Given the description of an element on the screen output the (x, y) to click on. 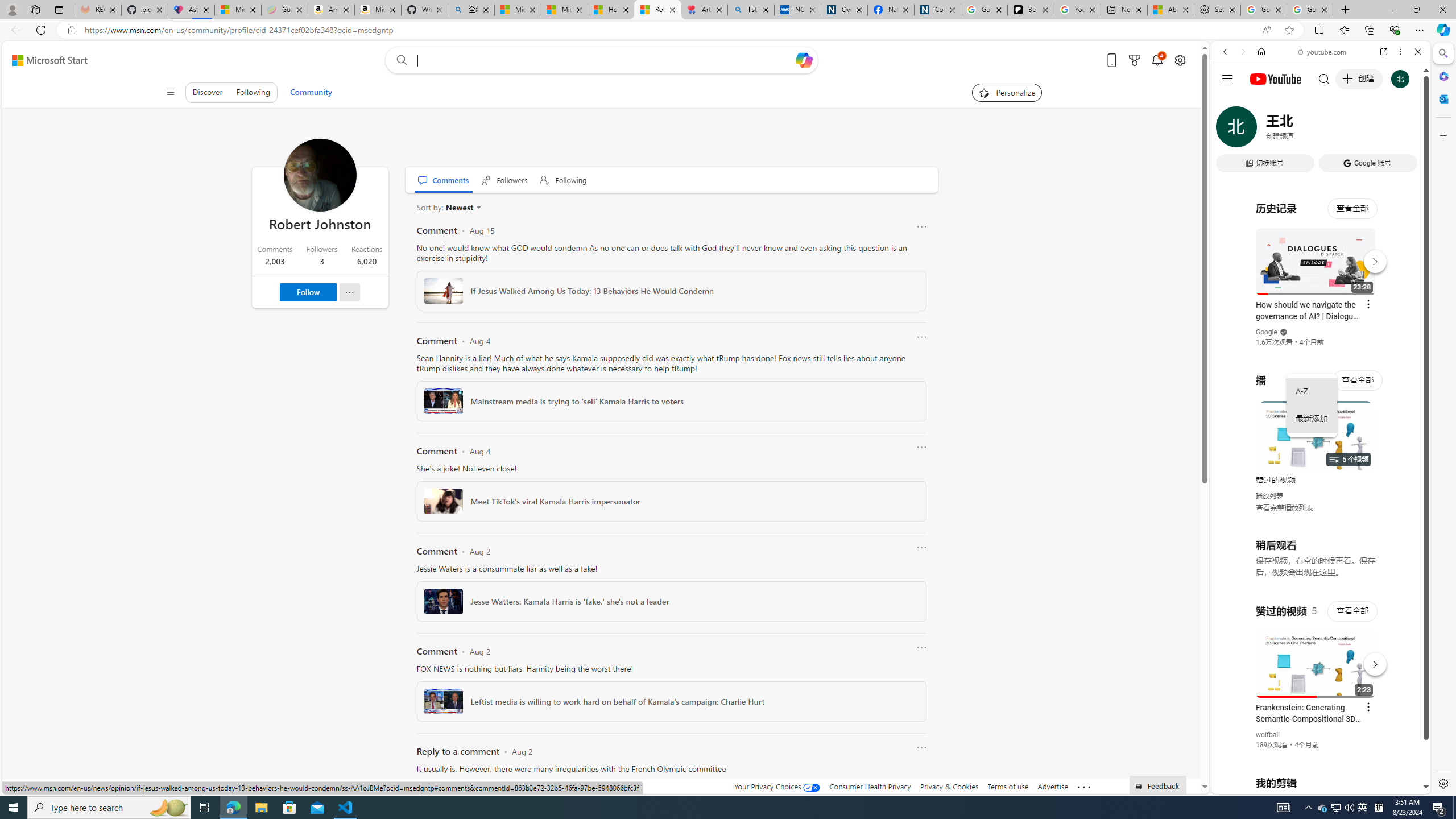
Class: feedback_link_icon-DS-EntryPoint1-1 (1140, 786)
